Given the description of an element on the screen output the (x, y) to click on. 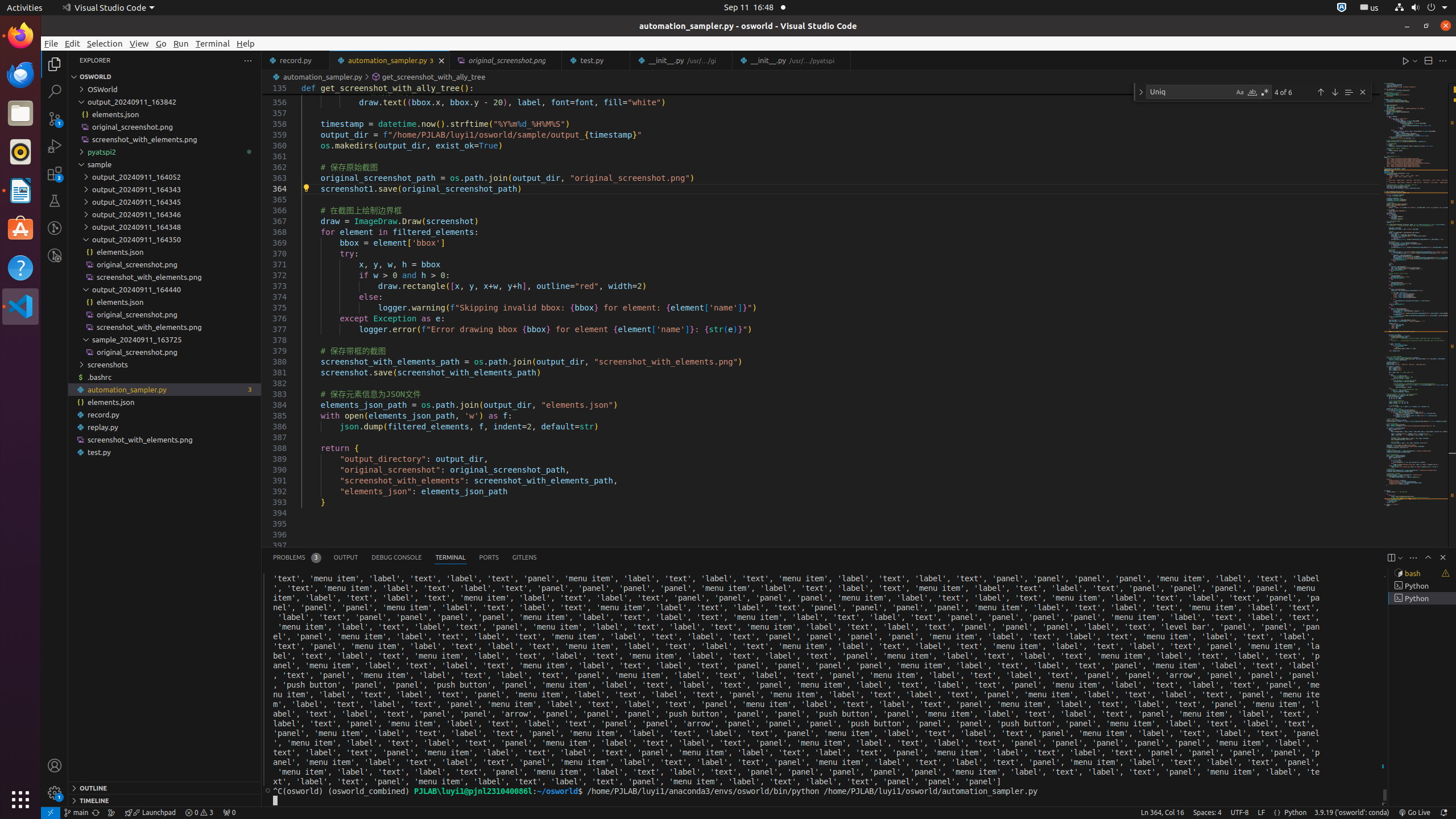
Run or Debug... Element type: push-button (1414, 60)
Search (Ctrl+Shift+F) Element type: page-tab (54, 91)
screenshots Element type: tree-item (164, 364)
automation_sampler.py Element type: page-tab (389, 60)
Editor Language Status: Auto Import Completions: false, next: Type Checking: off Element type: push-button (1277, 812)
